Given the description of an element on the screen output the (x, y) to click on. 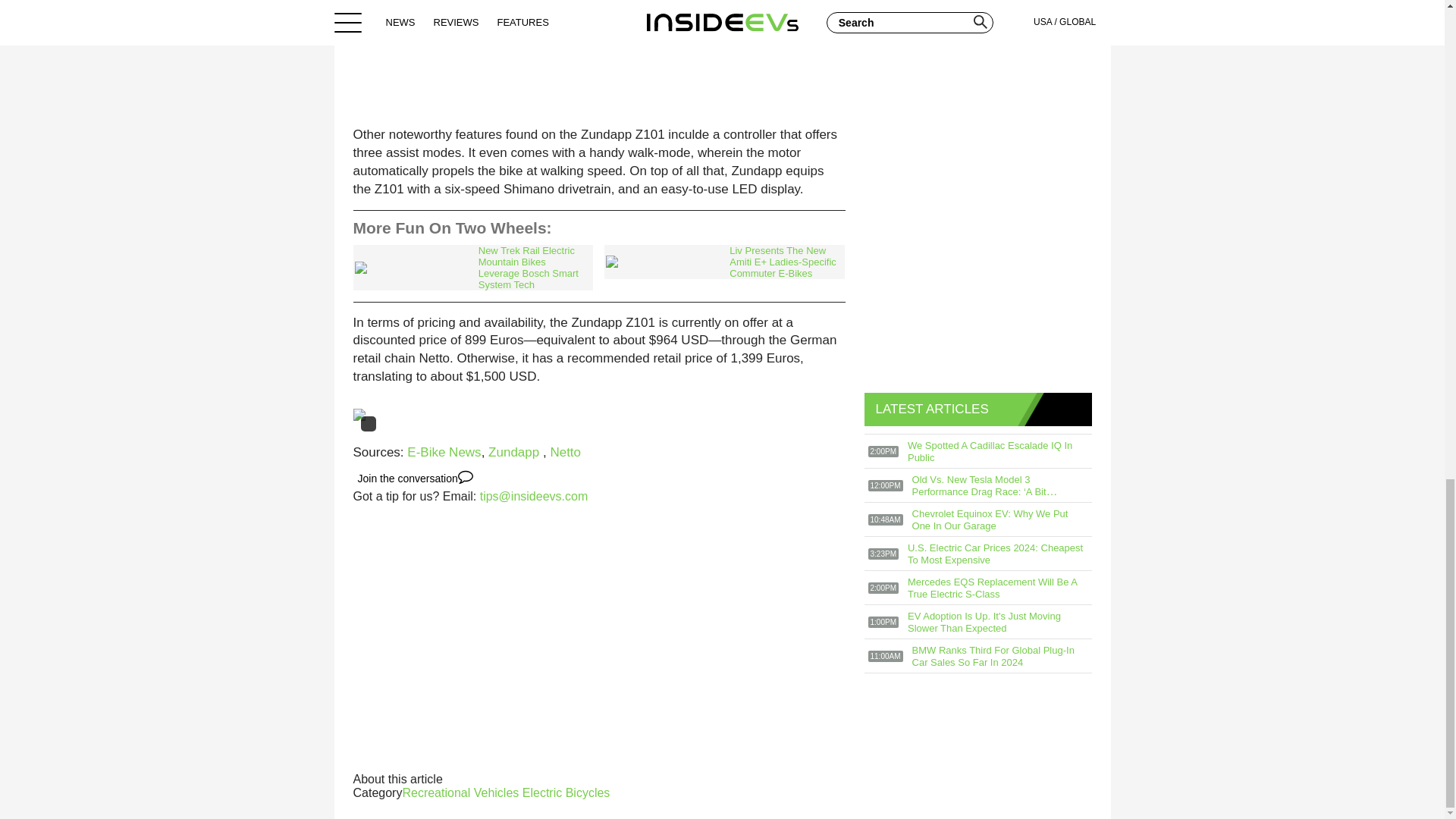
Netto (565, 452)
Zundapp (515, 452)
E-Bike News (443, 452)
Join the conversation (415, 477)
